Given the description of an element on the screen output the (x, y) to click on. 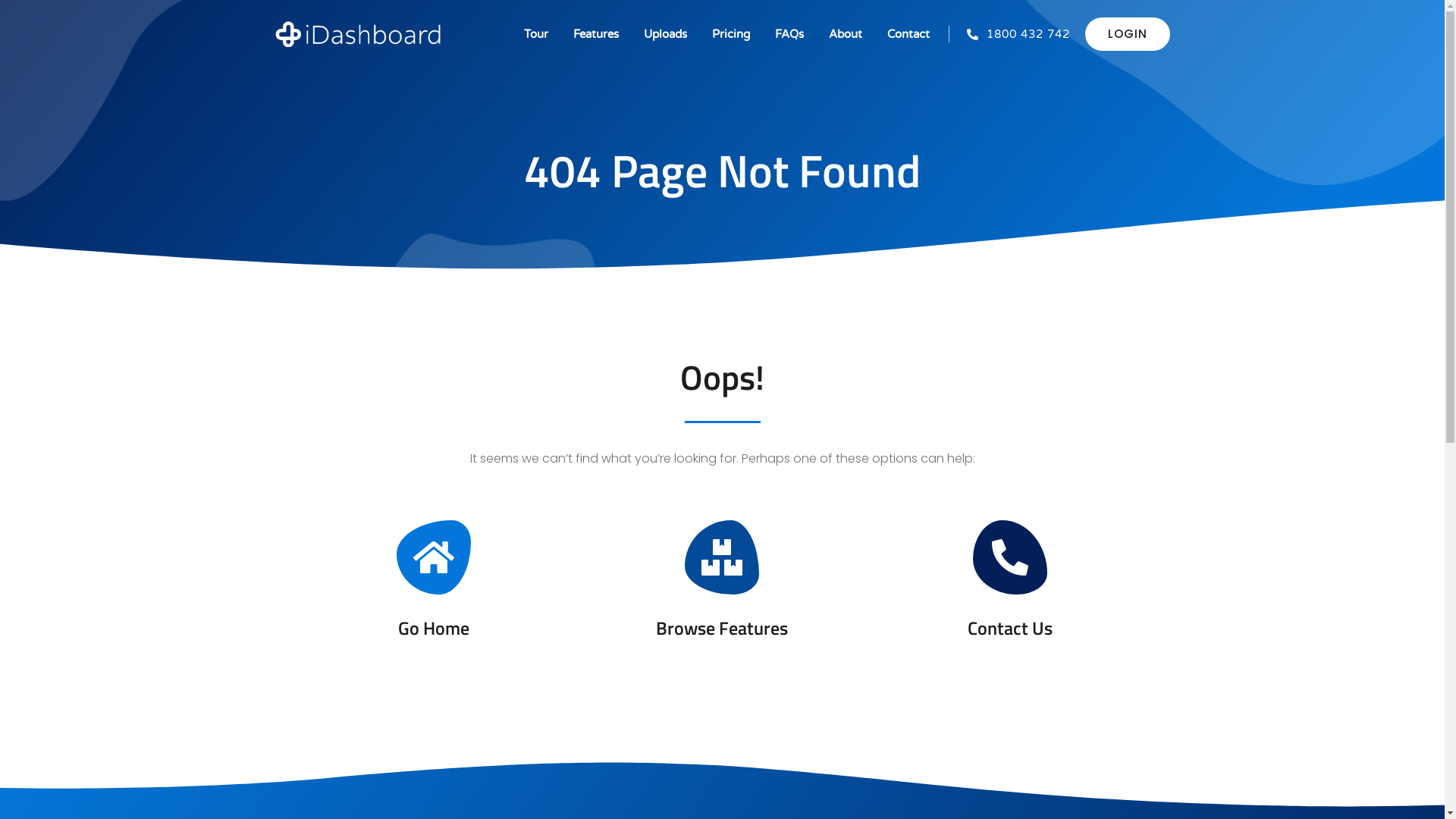
LOGIN Element type: text (1126, 33)
Browse Features Element type: text (721, 579)
1800 432 742 Element type: text (1009, 34)
Contact Us Element type: text (1009, 579)
Contact Element type: text (908, 34)
Pricing Element type: text (730, 34)
Features Element type: text (595, 34)
Tour Element type: text (535, 34)
About Element type: text (844, 34)
FAQs Element type: text (789, 34)
Uploads Element type: text (664, 34)
Go Home Element type: text (434, 579)
